Given the description of an element on the screen output the (x, y) to click on. 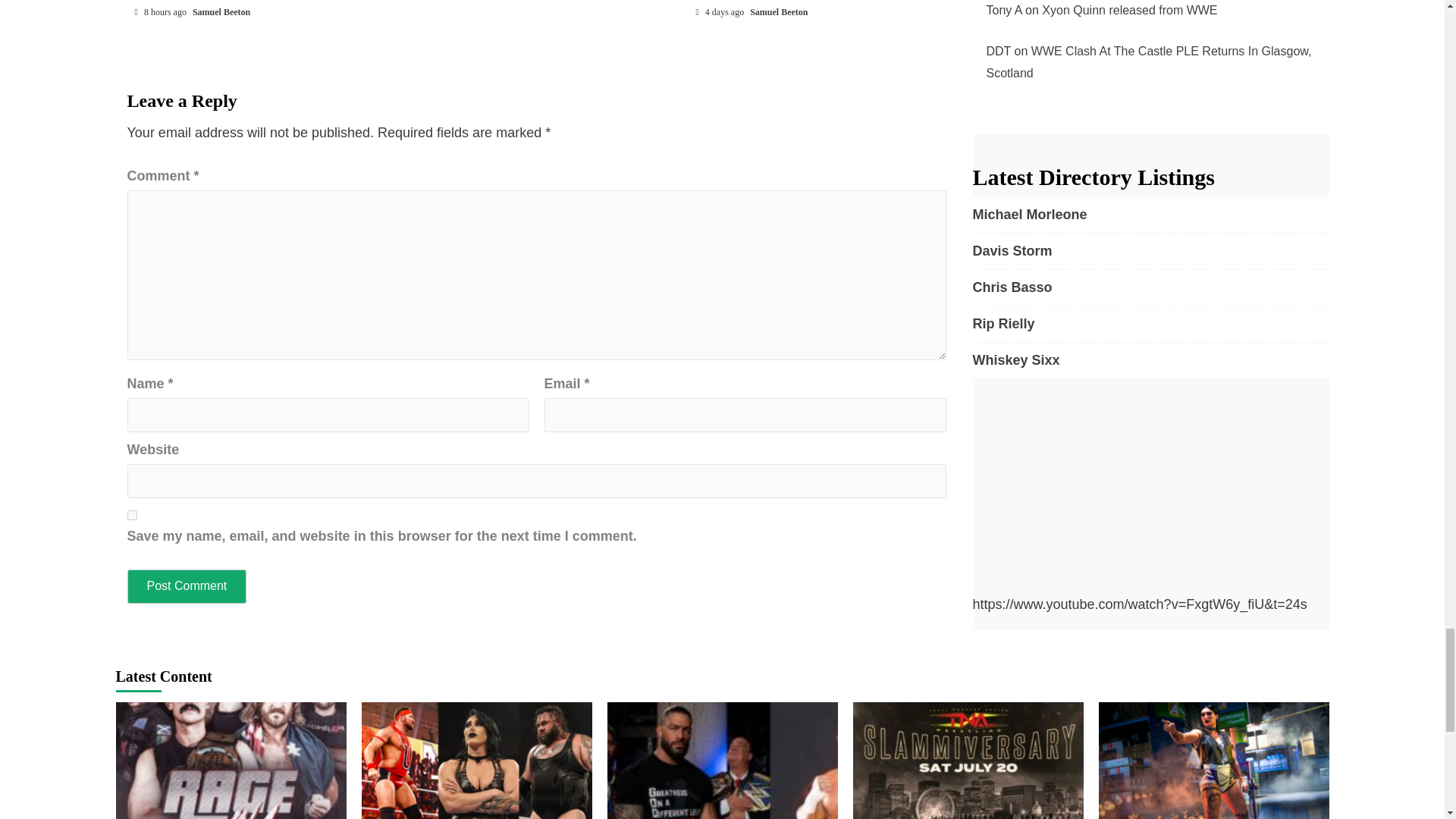
Post Comment (187, 586)
yes (132, 515)
